Given the description of an element on the screen output the (x, y) to click on. 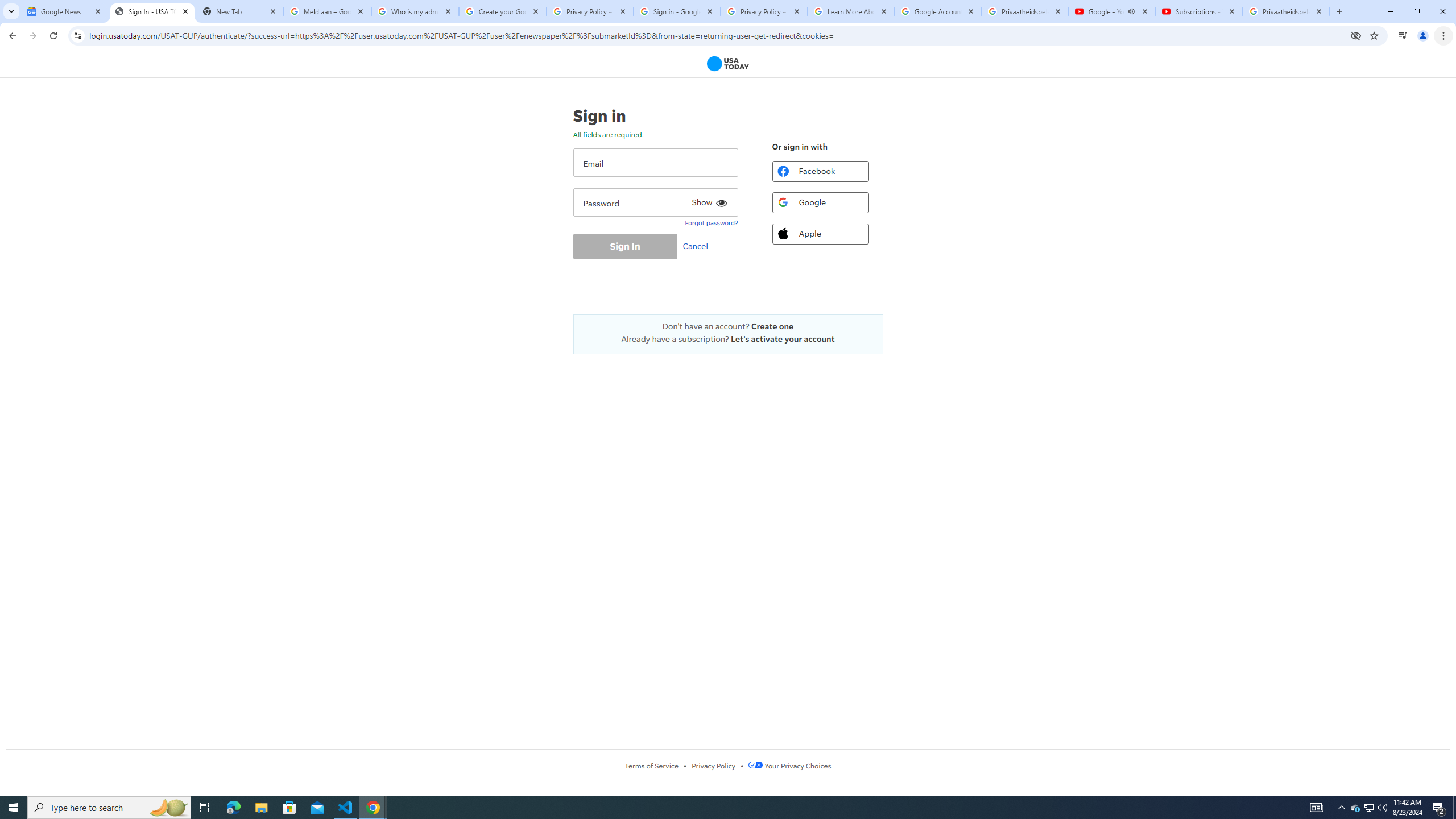
Control your music, videos, and more (1402, 35)
Facebook (820, 170)
Don't have an account? Create one (727, 326)
Address and search bar (715, 35)
